Given the description of an element on the screen output the (x, y) to click on. 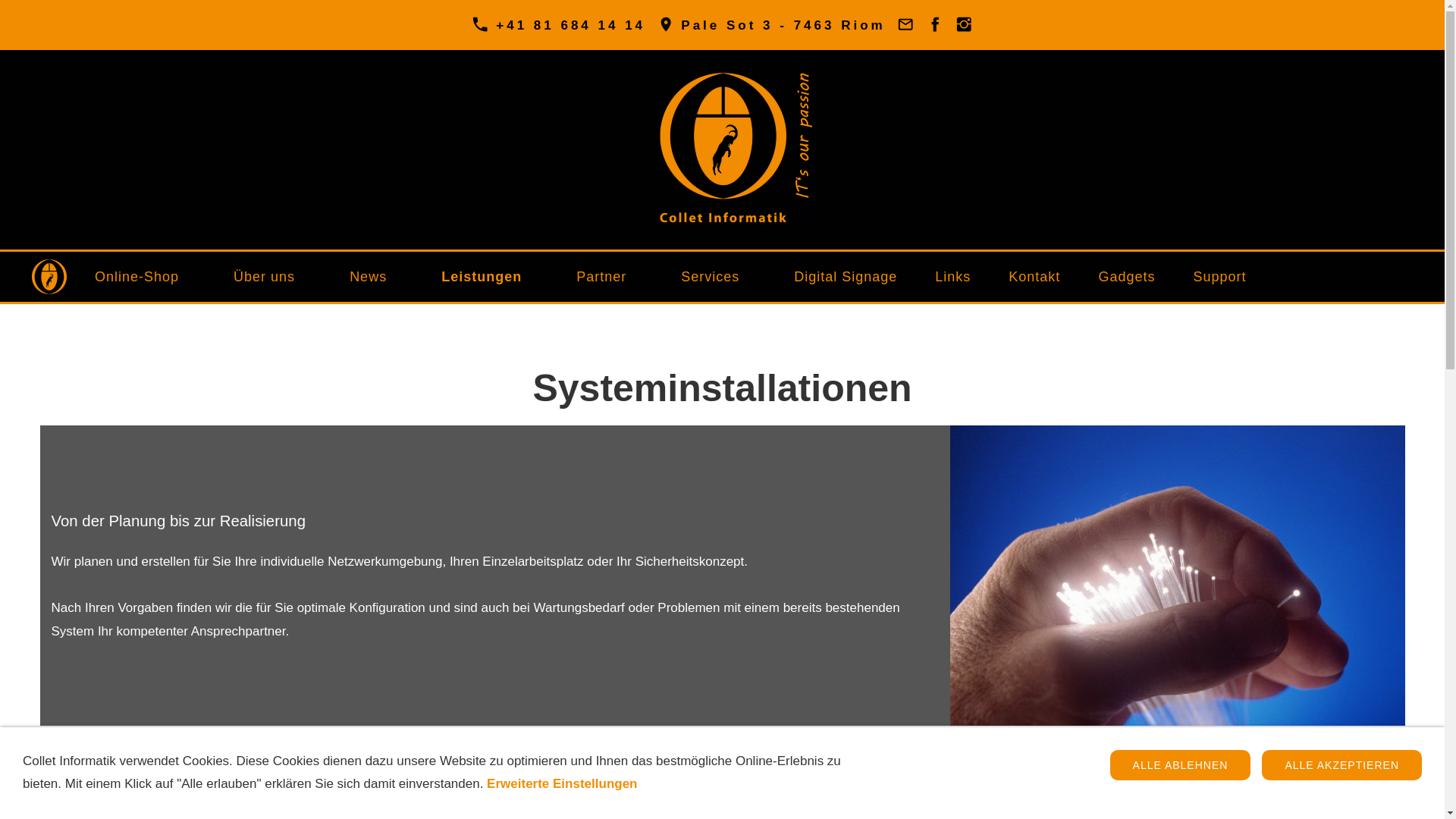
Leistungen Element type: text (489, 276)
Digital Signage Element type: text (845, 276)
Support Element type: text (1218, 276)
Erweiterte Einstellungen Element type: text (561, 783)
ALLE ABLEHNEN Element type: text (1180, 764)
News Element type: text (376, 276)
Links Element type: text (952, 276)
Kontakt Element type: text (1034, 276)
ALLE AKZEPTIEREN Element type: text (1341, 764)
Online-Shop Element type: text (144, 276)
Gadgets Element type: text (1126, 276)
 +41 81 684 14 14 Element type: text (558, 24)
Services Element type: text (718, 276)
Partner Element type: text (609, 276)
